Given the description of an element on the screen output the (x, y) to click on. 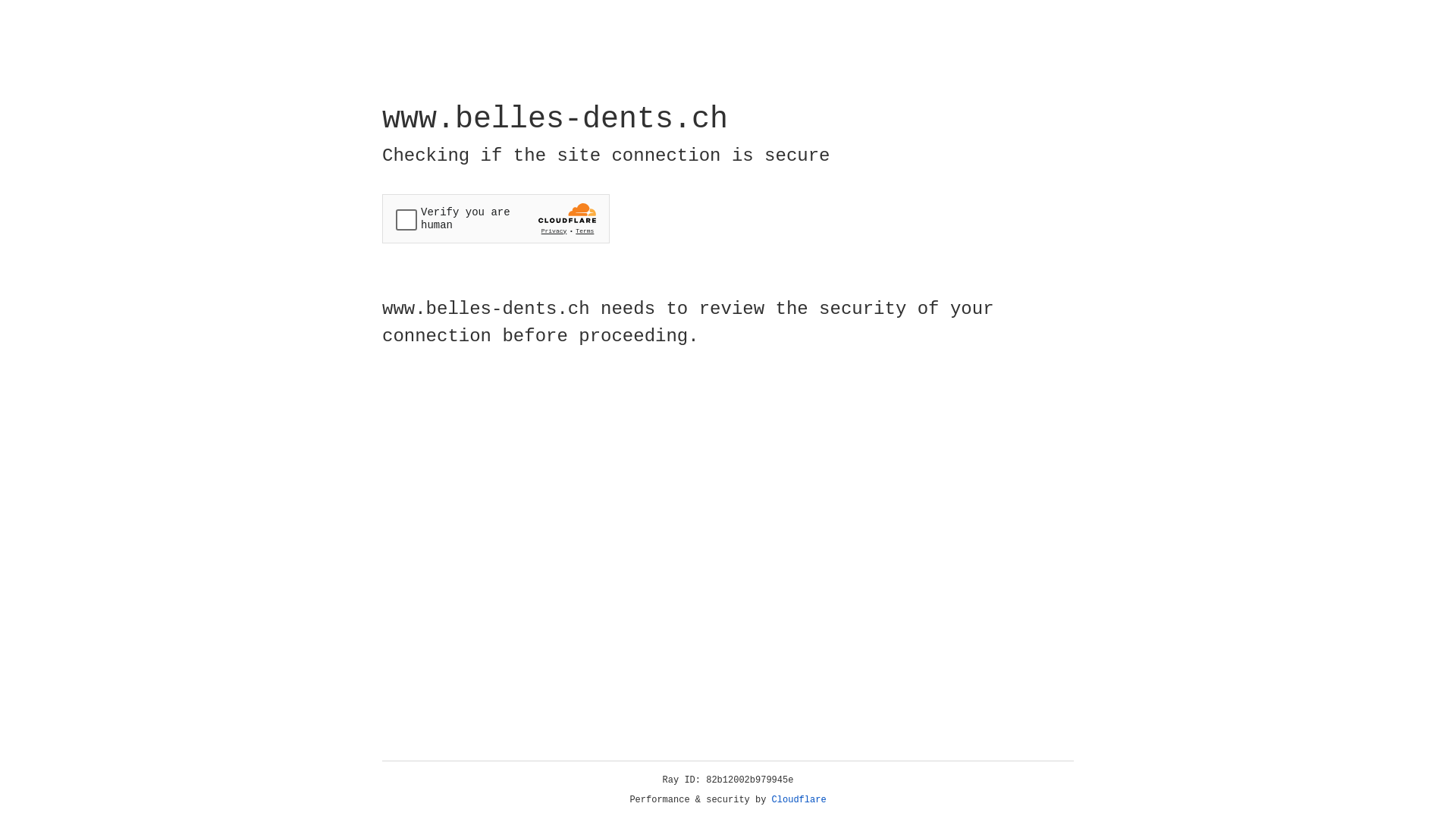
Cloudflare Element type: text (798, 799)
Widget containing a Cloudflare security challenge Element type: hover (495, 218)
